Given the description of an element on the screen output the (x, y) to click on. 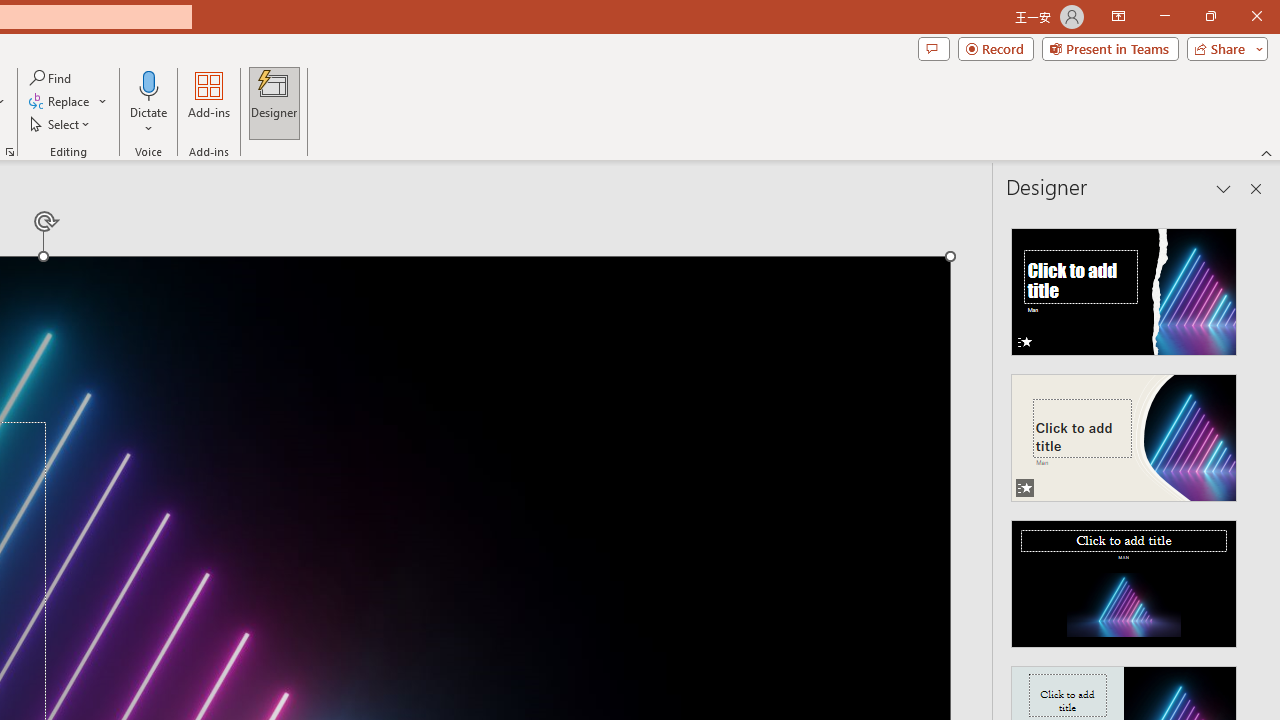
Design Idea with Animation (1124, 431)
Recommended Design: Animation (1124, 286)
